Given the description of an element on the screen output the (x, y) to click on. 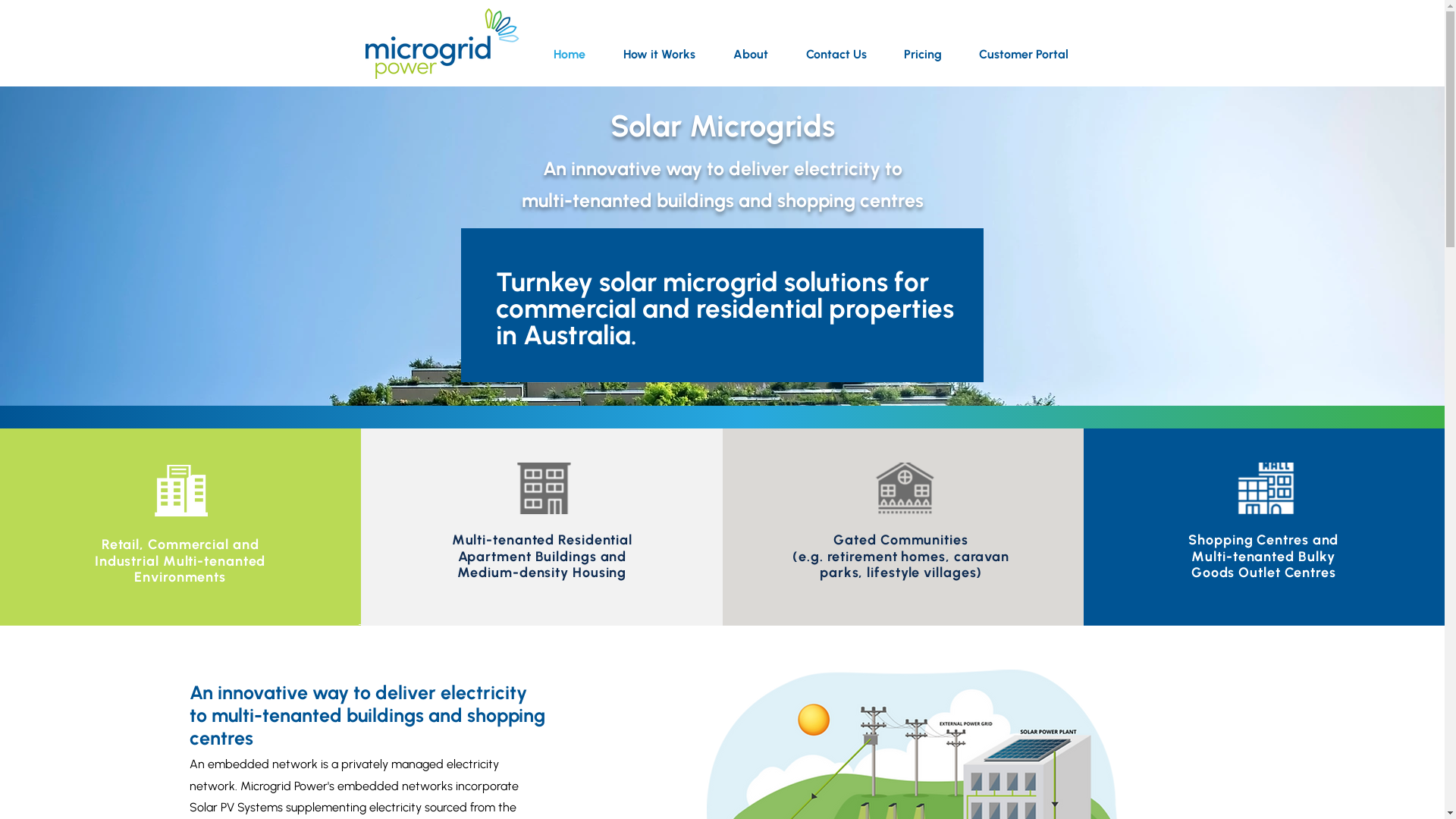
About Element type: text (757, 54)
How it Works Element type: text (666, 54)
Home Element type: text (576, 54)
Pricing Element type: text (928, 54)
Contact Us Element type: text (843, 54)
